Given the description of an element on the screen output the (x, y) to click on. 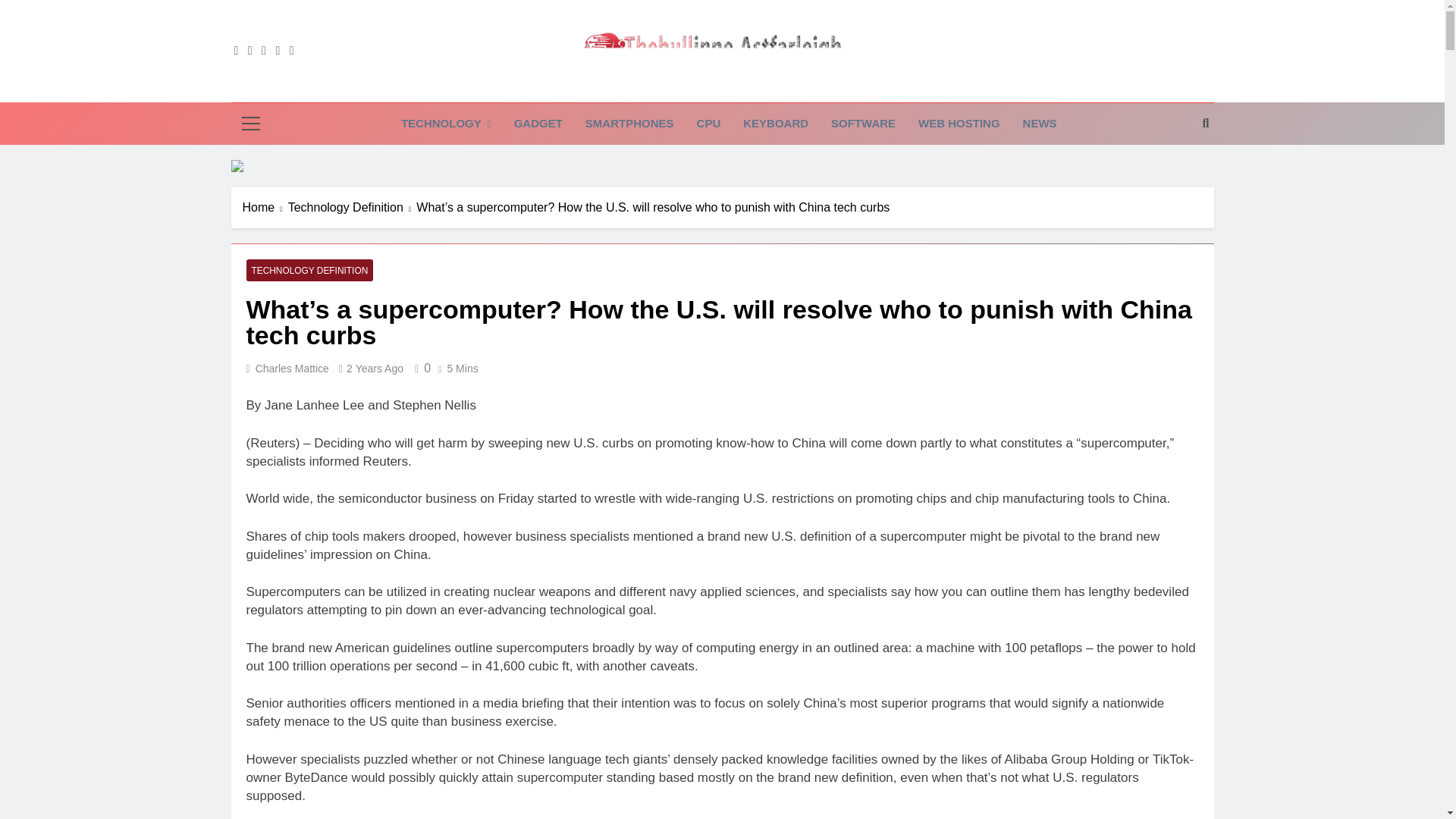
SMARTPHONES (629, 123)
WEB HOSTING (959, 123)
Thebullinne Astfarleigh (653, 88)
KEYBOARD (775, 123)
GADGET (537, 123)
CPU (708, 123)
NEWS (1039, 123)
TECHNOLOGY (446, 123)
SOFTWARE (863, 123)
